Given the description of an element on the screen output the (x, y) to click on. 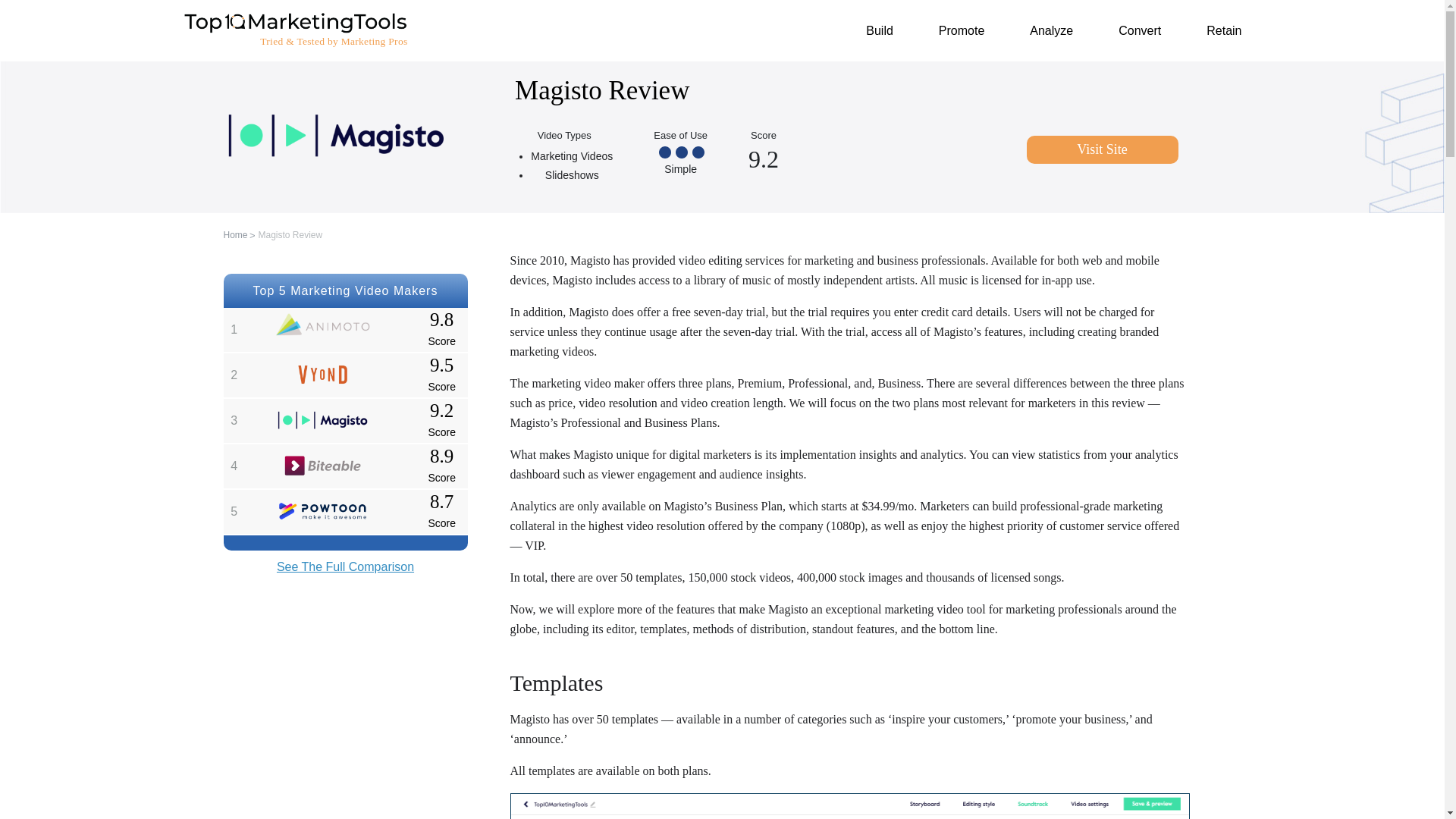
Promote (961, 30)
Animoto (322, 323)
Powtoon (322, 510)
Analyze (1051, 30)
Vyond (322, 373)
Biteable (322, 465)
Build (879, 30)
Magisto (322, 419)
